Given the description of an element on the screen output the (x, y) to click on. 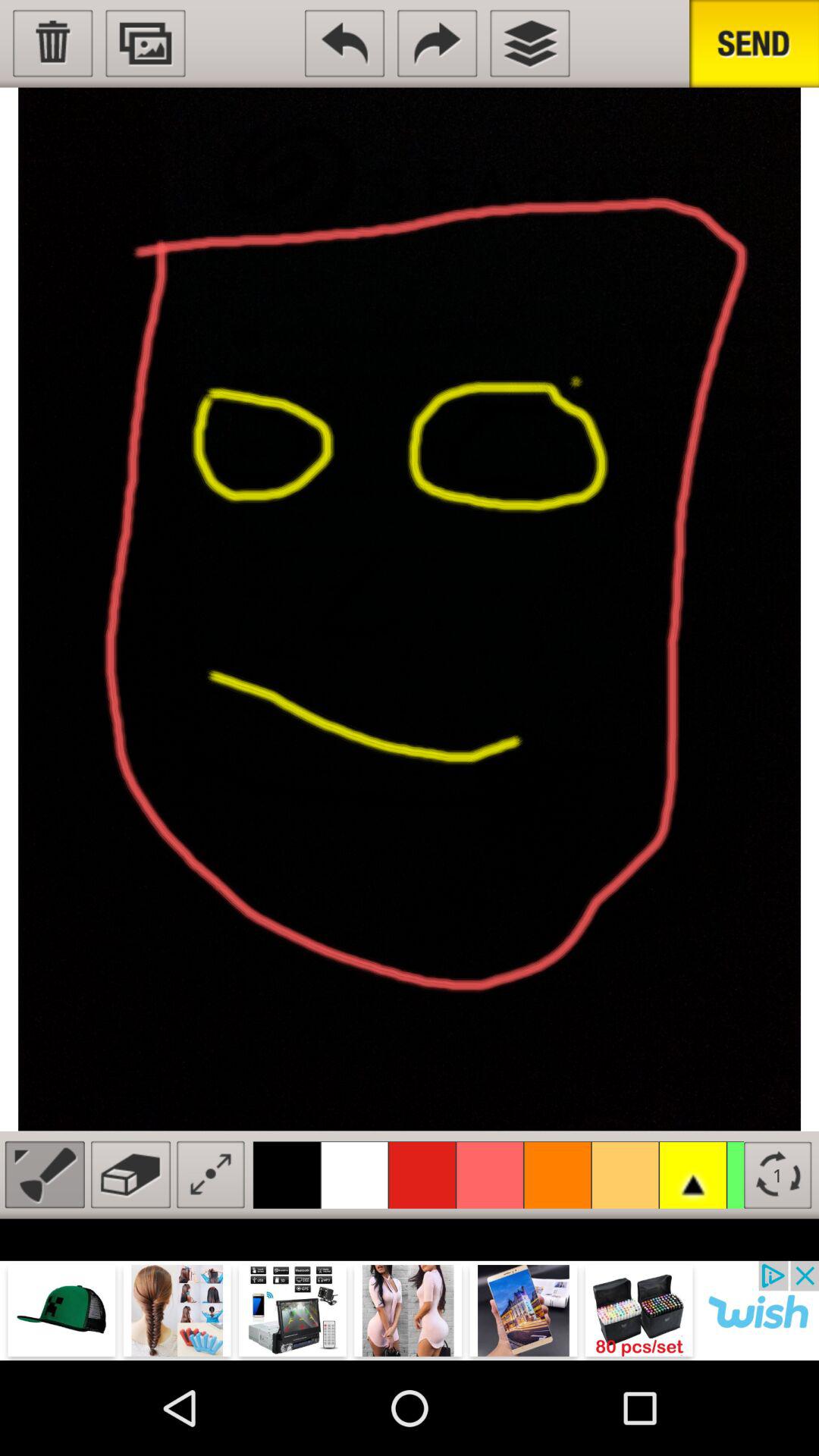
back to previous menu (344, 43)
